Given the description of an element on the screen output the (x, y) to click on. 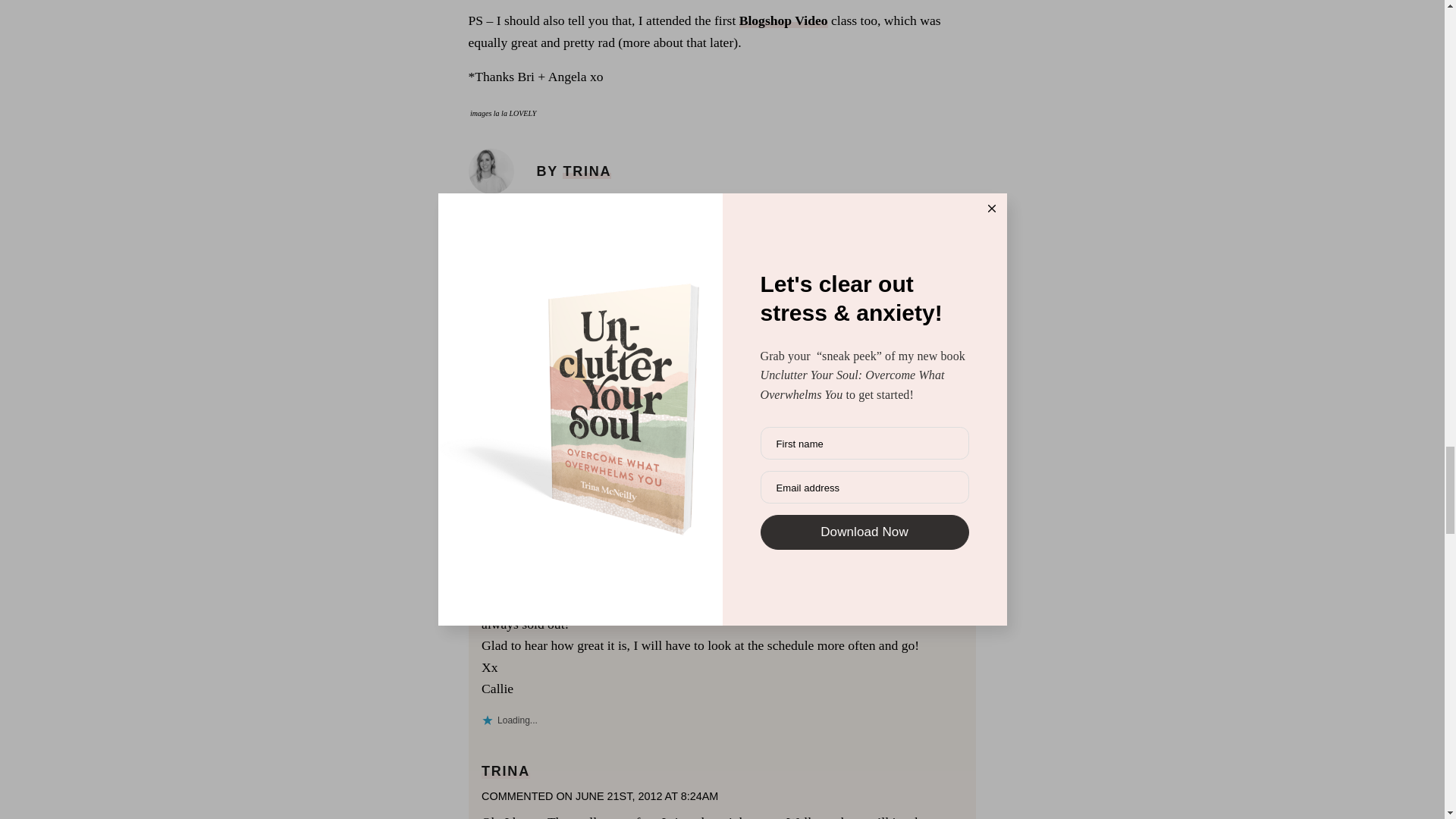
Posts by Trina (586, 171)
